Given the description of an element on the screen output the (x, y) to click on. 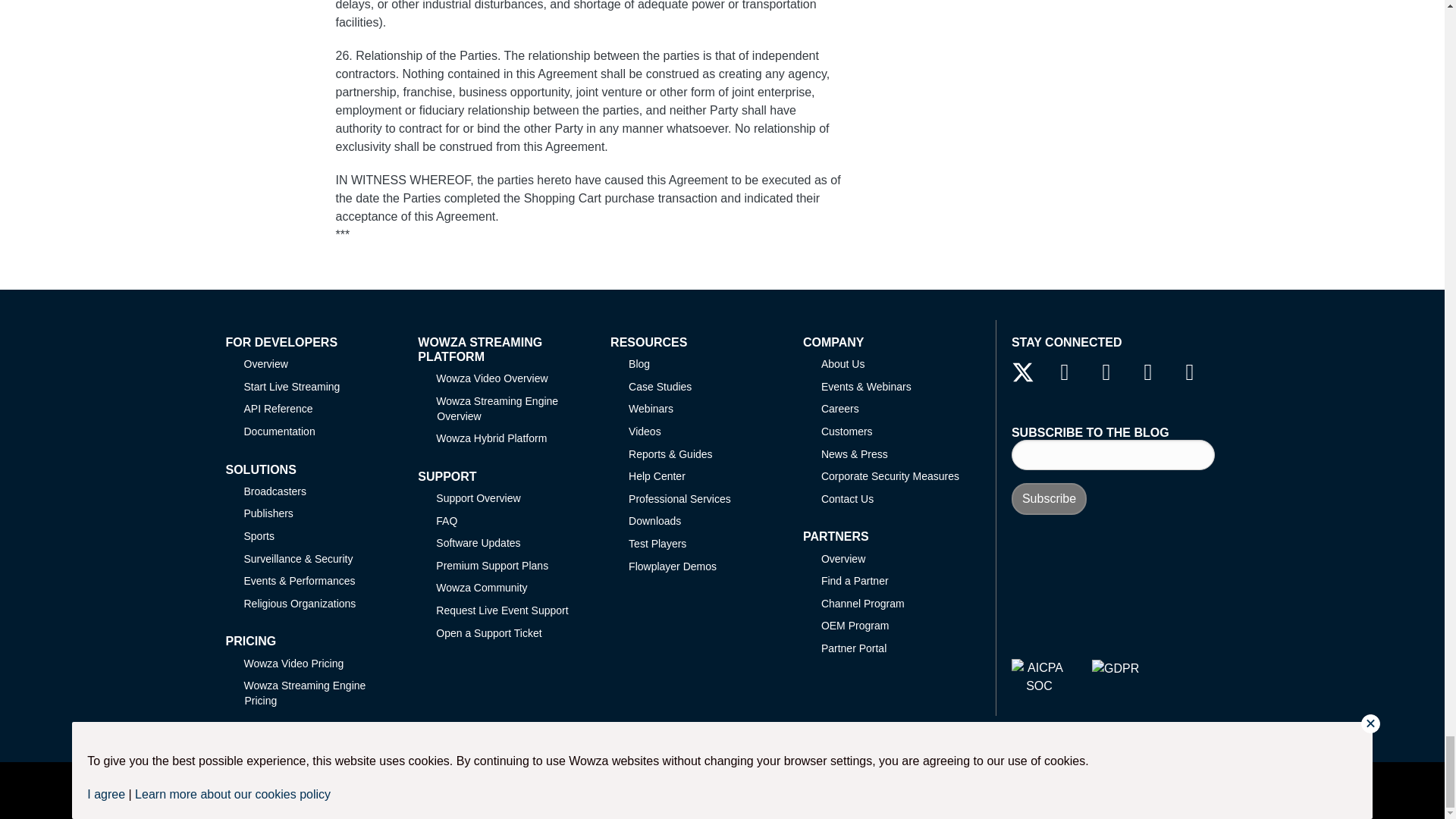
LinkedIn (1106, 372)
facebook (1063, 372)
Youtube (1147, 372)
Instagram (1189, 372)
Subscribe (1048, 499)
